Given the description of an element on the screen output the (x, y) to click on. 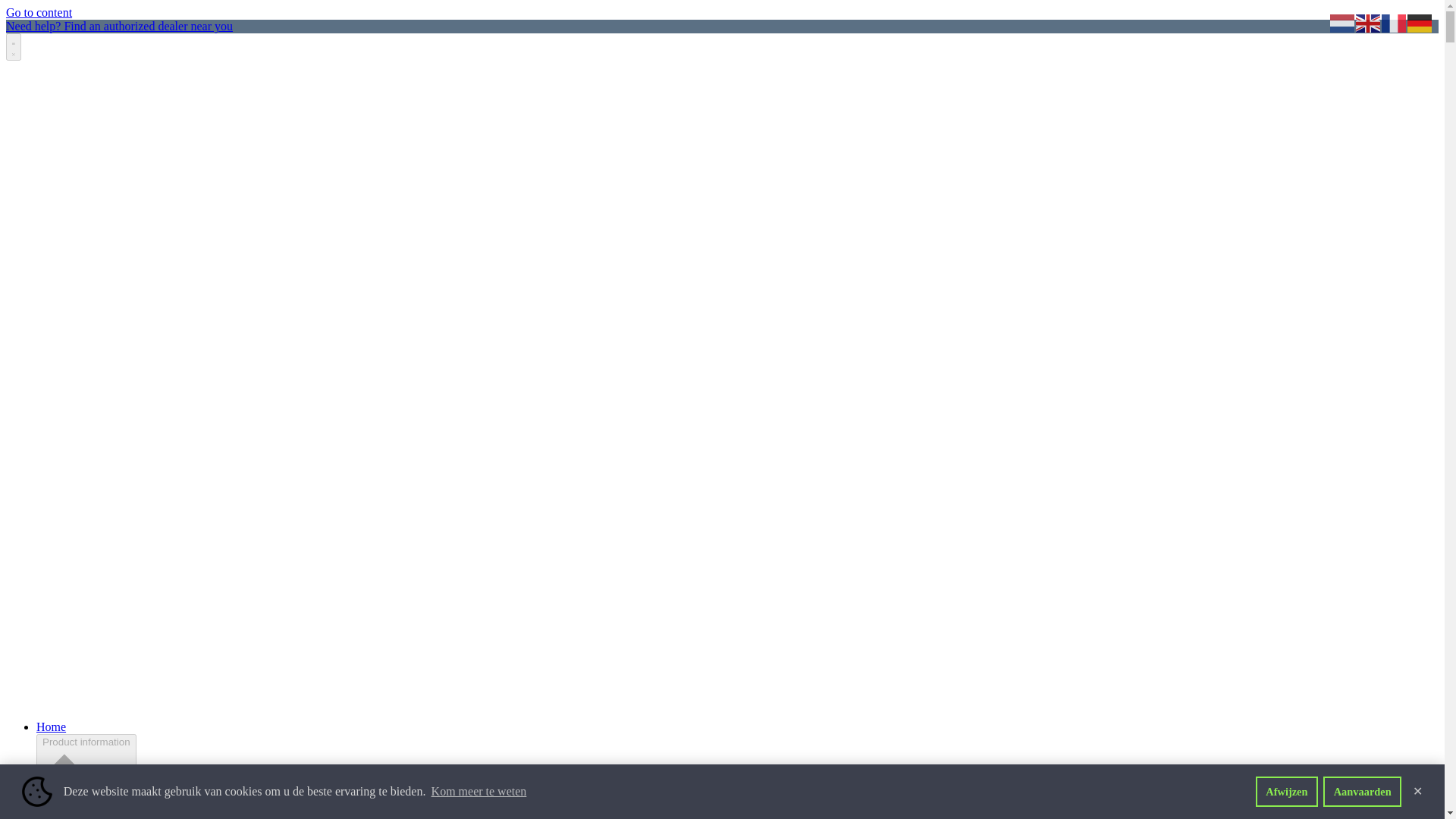
English (1368, 21)
Afwijzen (1286, 791)
Go to content (38, 11)
Need help? Find an authorized dealer near you (118, 25)
Home (50, 726)
Product information (86, 776)
Nederlands (1342, 21)
Kom meer te weten (478, 791)
Aanvaarden (1361, 791)
